Given the description of an element on the screen output the (x, y) to click on. 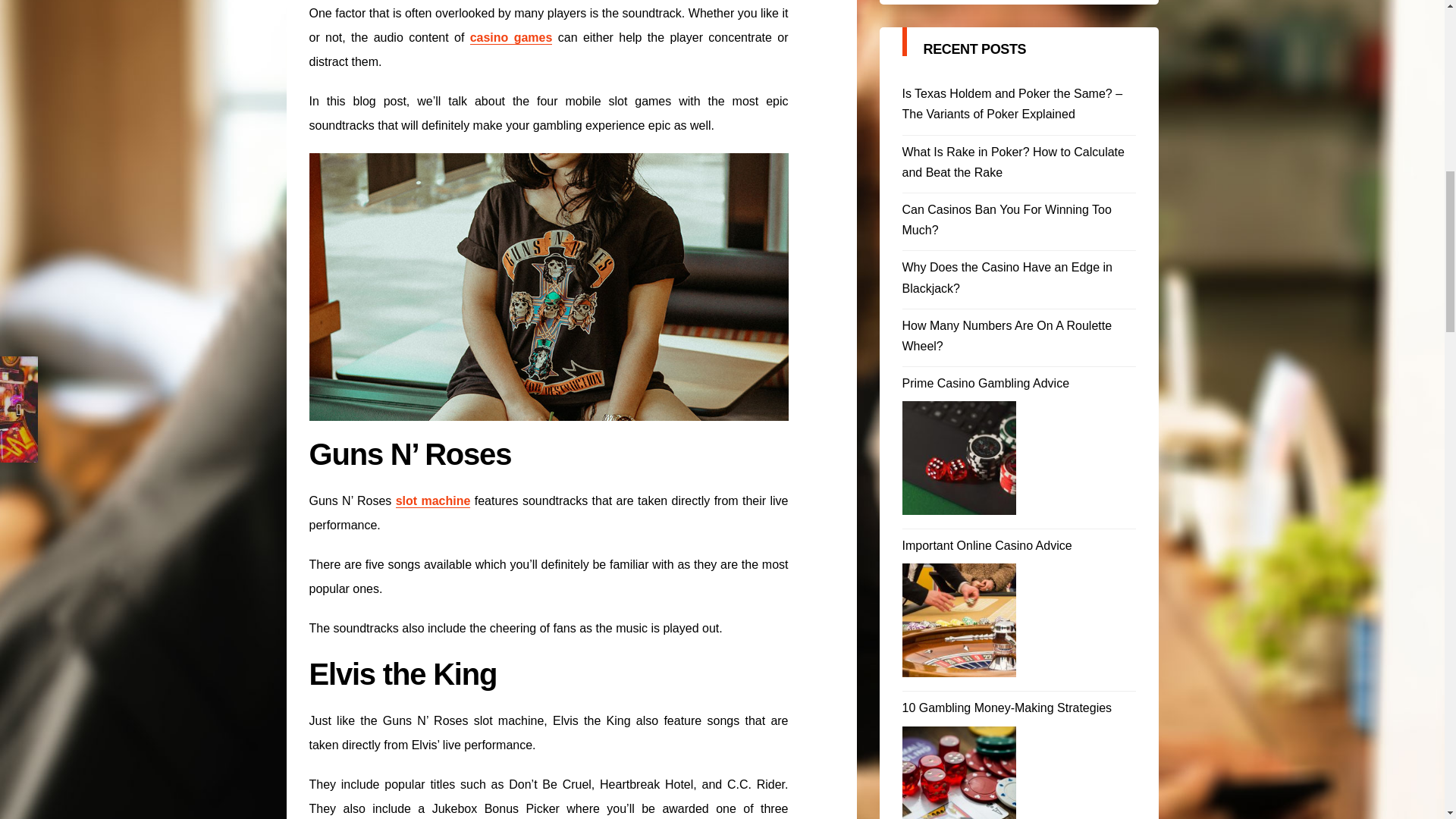
Important Online Casino Advice (1018, 545)
10 Gambling Money-Making Strategies (959, 772)
slot machine (433, 500)
What Is Rake in Poker? How to Calculate and Beat the Rake (1018, 161)
10 Gambling Money-Making Strategies (1018, 707)
Prime Casino Gambling Advice (1018, 383)
Important Online Casino Advice (959, 620)
How Many Numbers Are On A Roulette Wheel? (1018, 335)
casino games (511, 38)
